Given the description of an element on the screen output the (x, y) to click on. 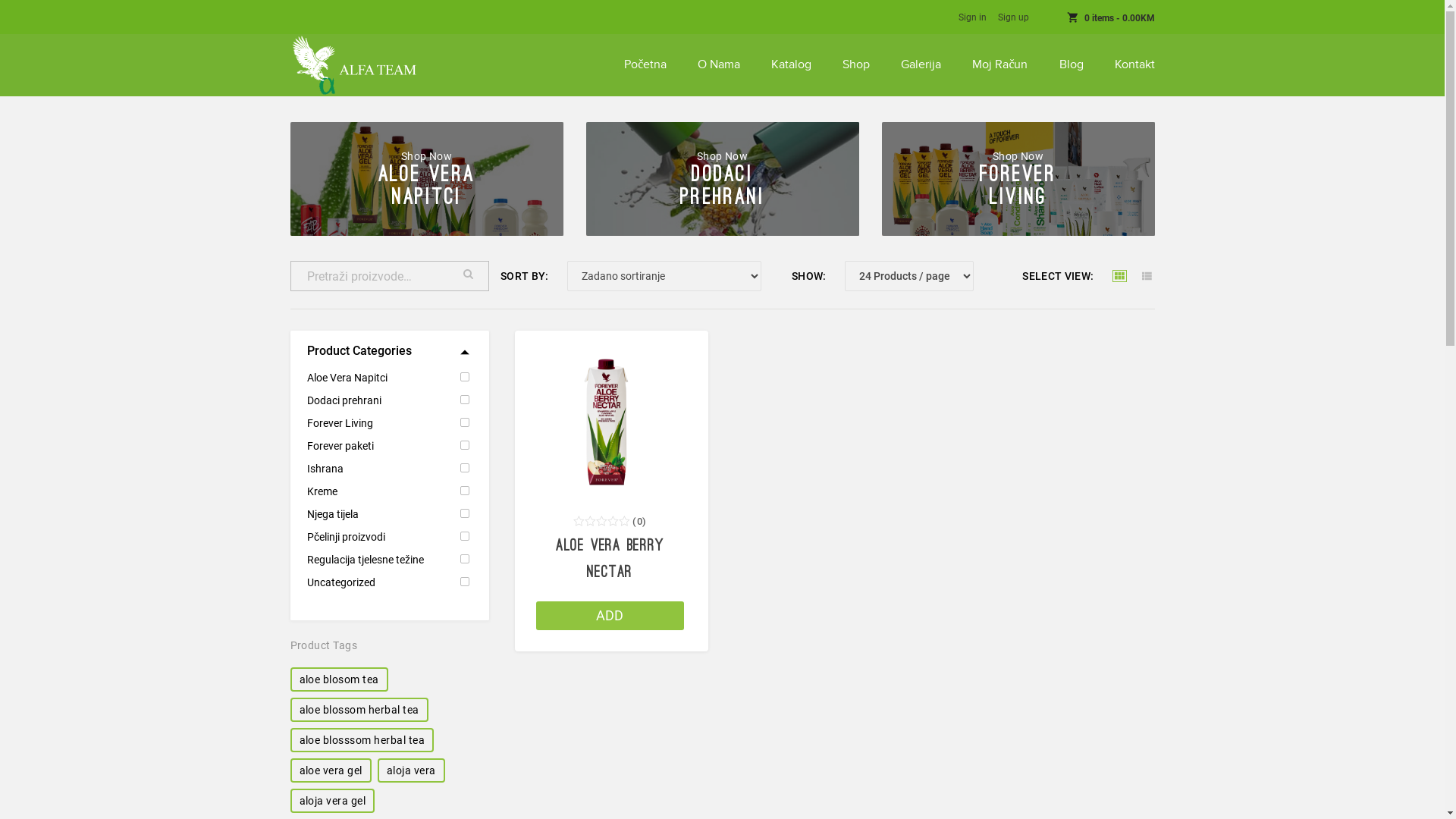
Shop Element type: text (855, 64)
O Nama Element type: text (718, 64)
aloja vera gel Element type: text (331, 800)
DODACI PREHRANI Element type: text (721, 186)
Galerija Element type: text (920, 64)
Sign up Element type: text (1013, 17)
(0) Element type: text (639, 521)
Sign in Element type: text (972, 17)
Njega tijela Element type: text (387, 513)
ALOE VERA BERRY NECTAR Element type: text (609, 559)
Shop Now Element type: text (721, 155)
Katalog Element type: text (791, 64)
FOREVER LIVING Element type: text (1017, 186)
ALOE VERA NAPITCI Element type: text (425, 186)
Kontakt Element type: text (1134, 64)
Forever Living Element type: text (387, 422)
Blog Element type: text (1070, 64)
view_module Element type: text (1118, 275)
aloe blosom tea Element type: text (338, 679)
Uncategorized Element type: text (387, 582)
Aloe Vera Napitci Element type: text (387, 377)
Kreme Element type: text (387, 491)
aloe blossom herbal tea Element type: text (358, 709)
Rated 0 out of 5 Element type: hover (601, 521)
aloe vera gel Element type: text (329, 770)
Shop Now Element type: text (1017, 155)
aloe blosssom herbal tea Element type: text (361, 740)
Forever paketi Element type: text (387, 445)
view_list Element type: text (1146, 275)
Dodaci prehrani Element type: text (387, 400)
ADD Element type: text (610, 615)
aloja vera Element type: text (411, 770)
Ishrana Element type: text (387, 468)
Shop Now Element type: text (425, 155)
